Given the description of an element on the screen output the (x, y) to click on. 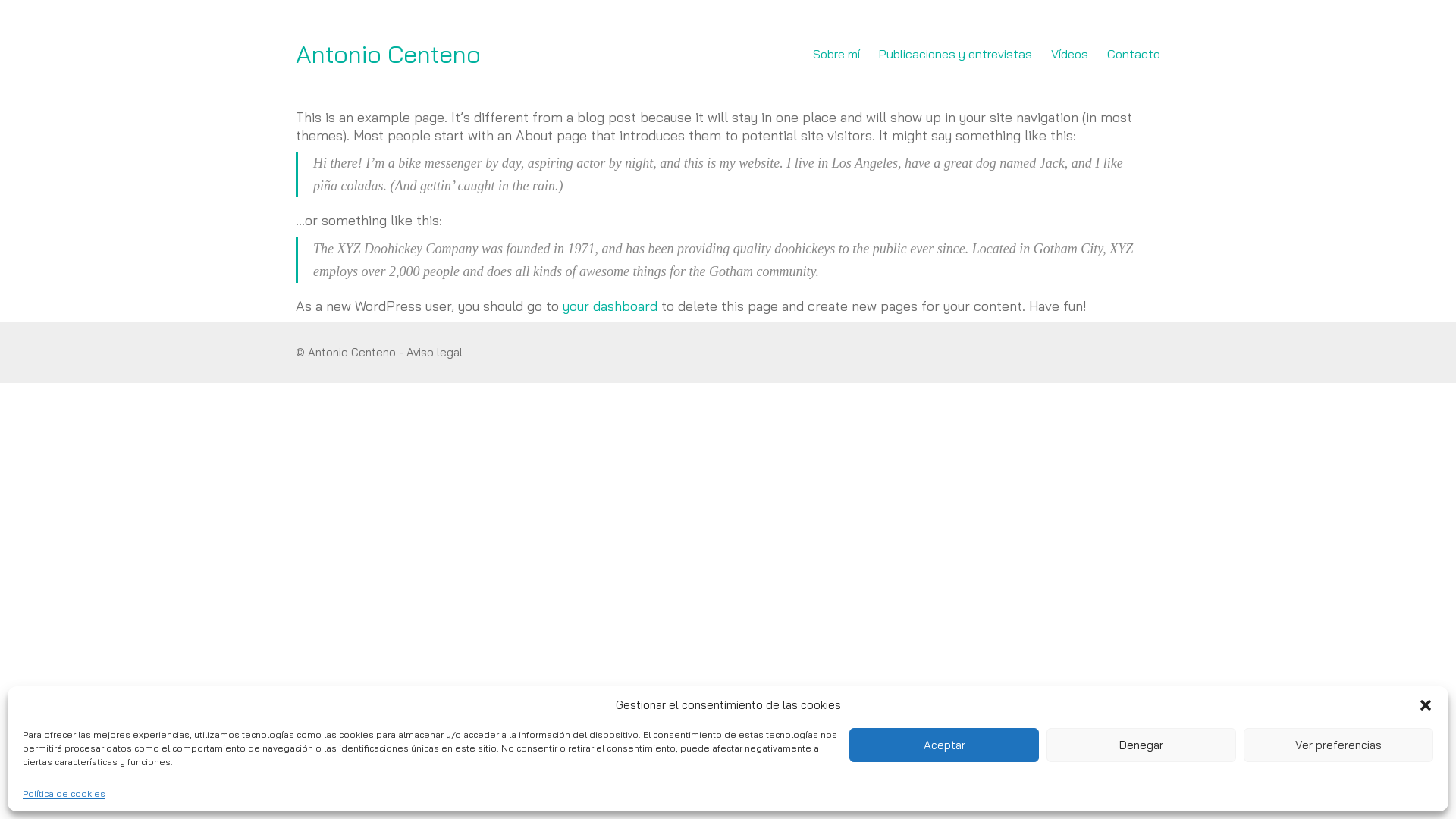
your dashboard Element type: text (609, 305)
Ver preferencias Element type: text (1338, 745)
Contacto Element type: text (1133, 54)
Publicaciones y entrevistas Element type: text (955, 54)
Denegar Element type: text (1141, 745)
Antonio Centeno Element type: text (387, 53)
Aceptar Element type: text (943, 745)
Aviso legal Element type: text (434, 352)
